Given the description of an element on the screen output the (x, y) to click on. 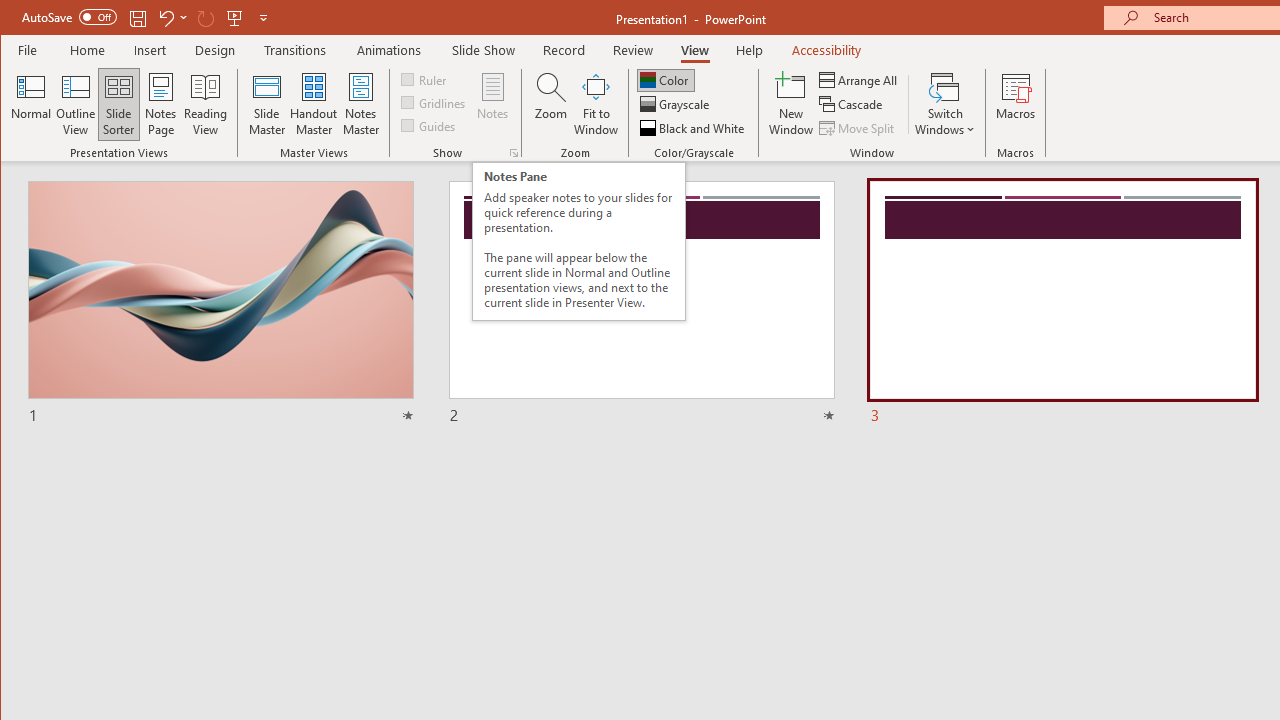
Color (666, 80)
Notes (493, 104)
Ruler (425, 78)
Notes Page (160, 104)
Handout Master (314, 104)
